Given the description of an element on the screen output the (x, y) to click on. 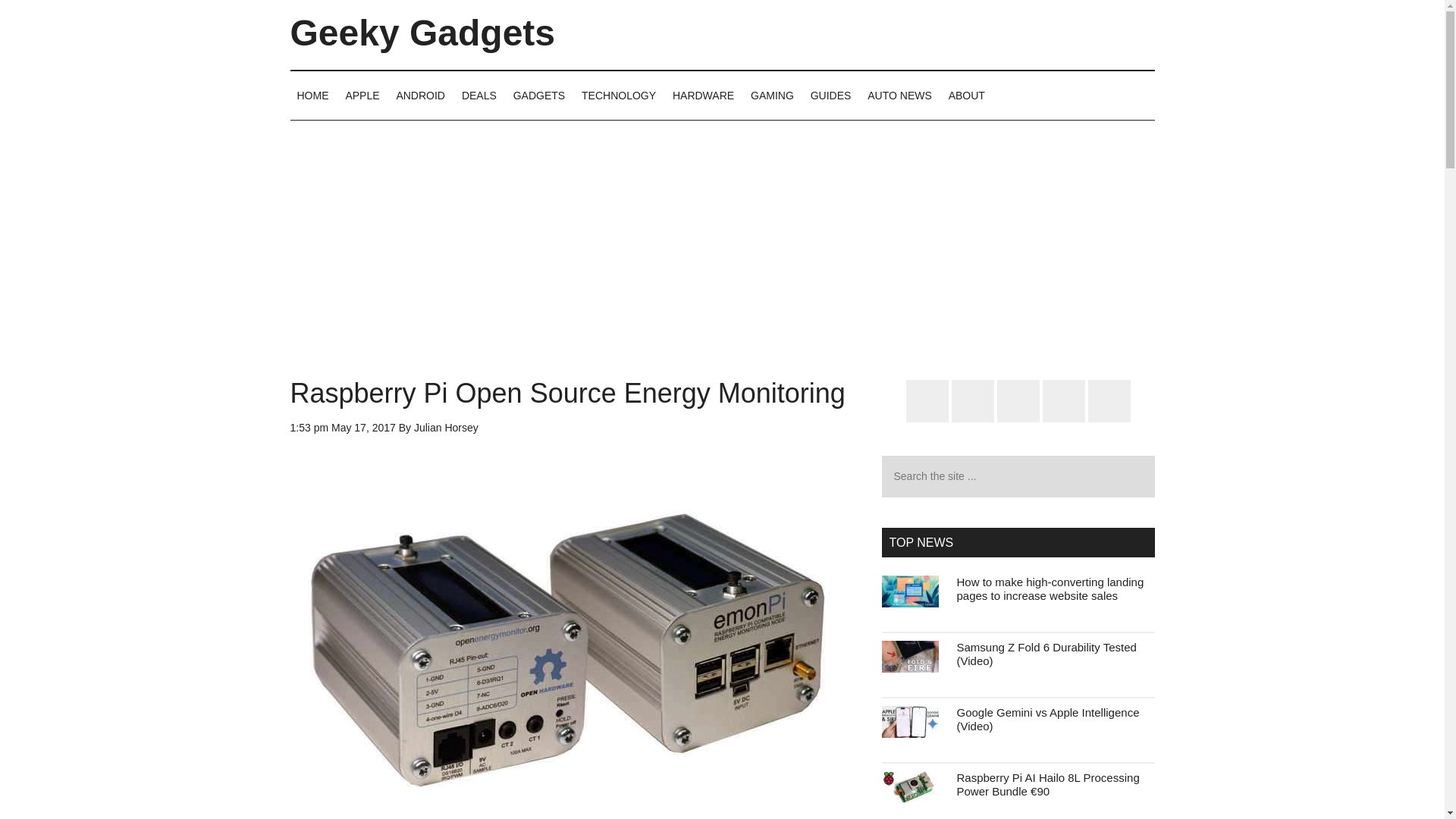
APPLE (361, 95)
AUTO NEWS (899, 95)
About Geeky Gadgets (966, 95)
Geeky Gadgets (421, 33)
GAMING (772, 95)
DEALS (478, 95)
ANDROID (419, 95)
Julian Horsey (446, 427)
HOME (311, 95)
GUIDES (831, 95)
GADGETS (539, 95)
